Given the description of an element on the screen output the (x, y) to click on. 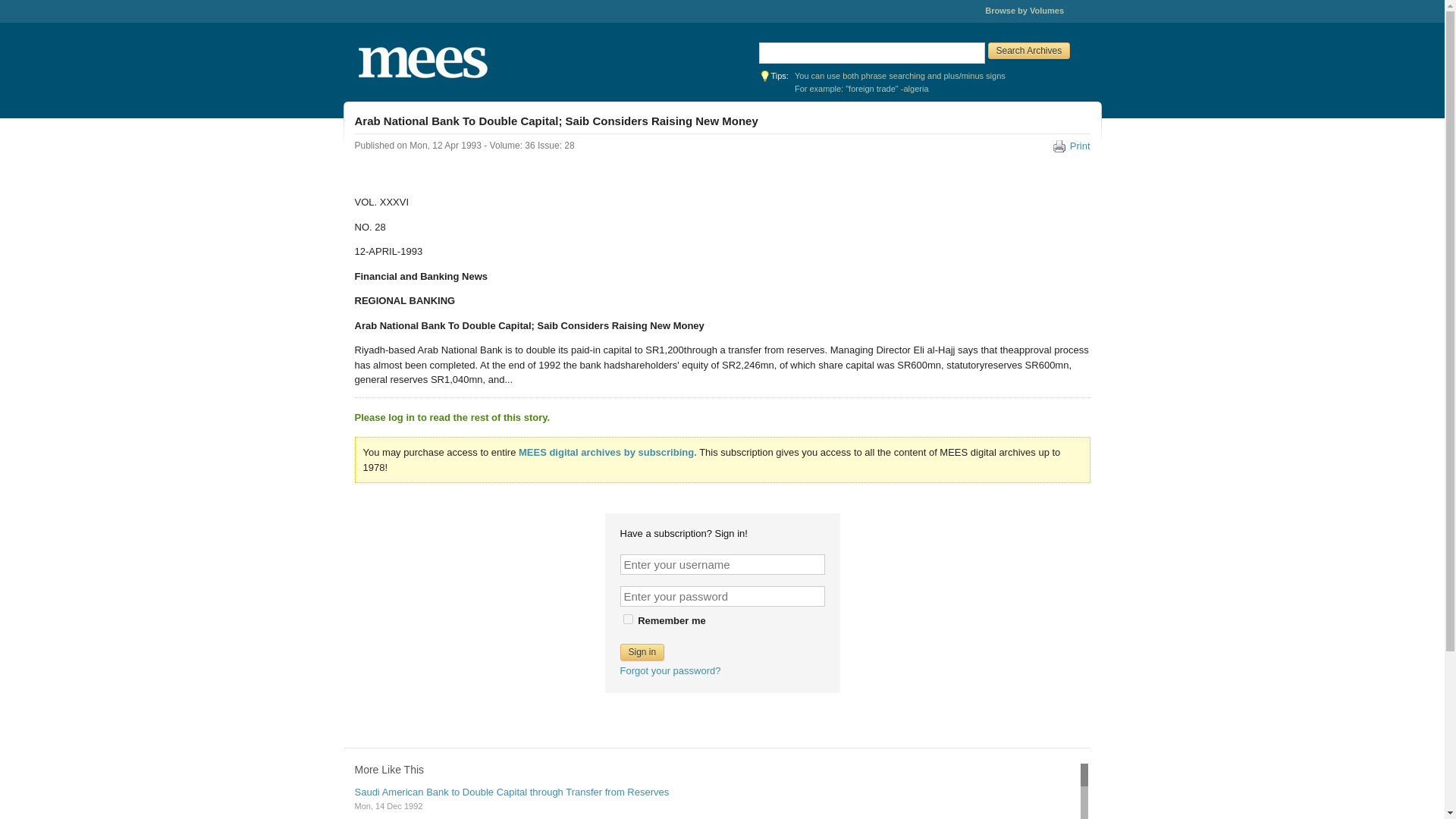
MEES Archives (470, 61)
1 (628, 619)
MEES digital archives by subscribing. (607, 451)
Sign in (642, 651)
Search Archives (1028, 50)
Print (1071, 146)
Forgot your password? (670, 669)
Sign in (642, 651)
Search Archives (1028, 50)
